Given the description of an element on the screen output the (x, y) to click on. 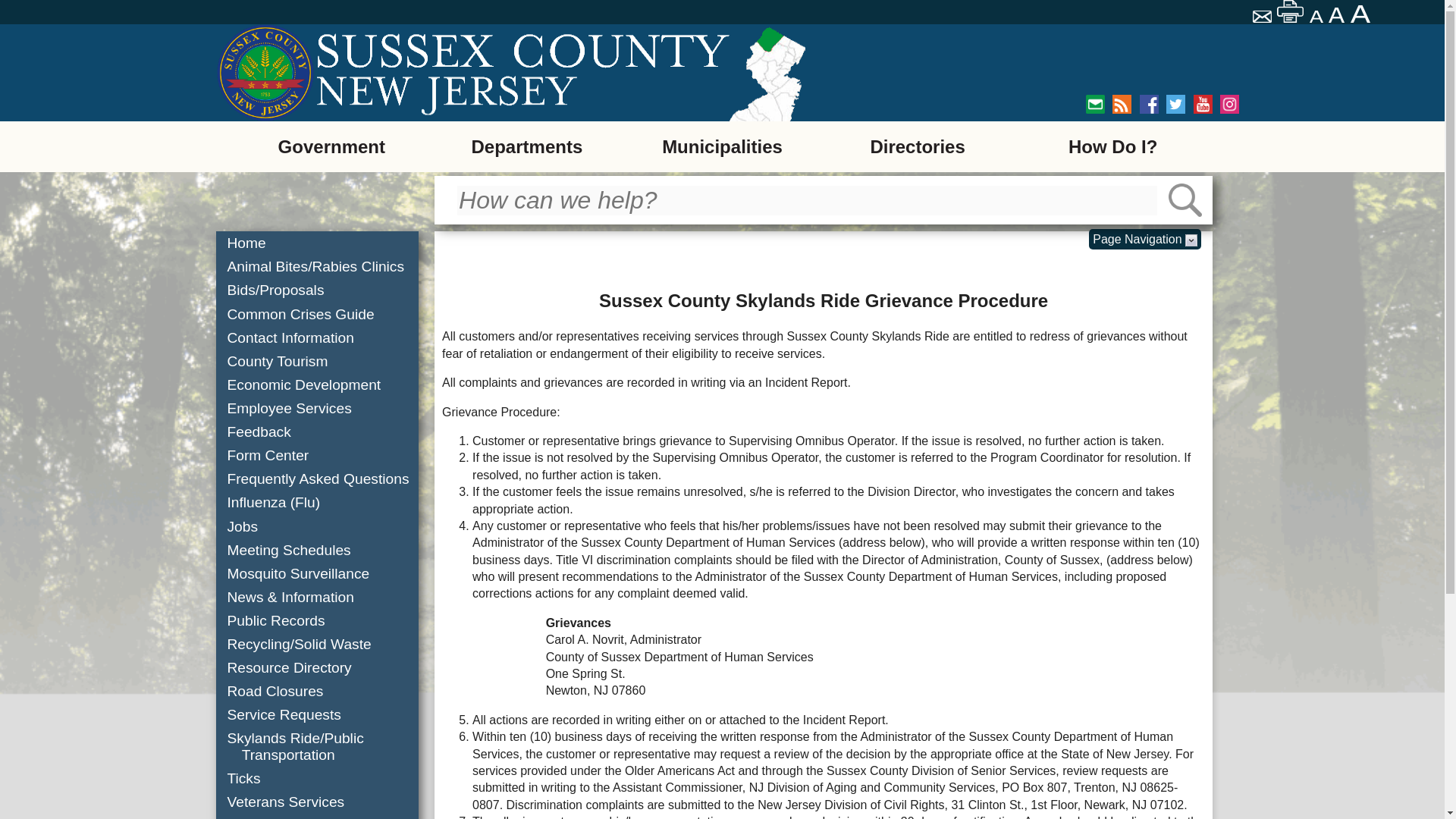
Visit our YouTube channel (1202, 104)
Visit our Instagram page (1229, 104)
Medium font size (1336, 14)
Sign Up for emails from Sussex County (1095, 104)
Email page (1263, 18)
Print page (1291, 11)
Visit our Facebook page (1149, 104)
Small font size (1316, 16)
Visit our RSS feed (1121, 104)
Search Box (807, 200)
